Given the description of an element on the screen output the (x, y) to click on. 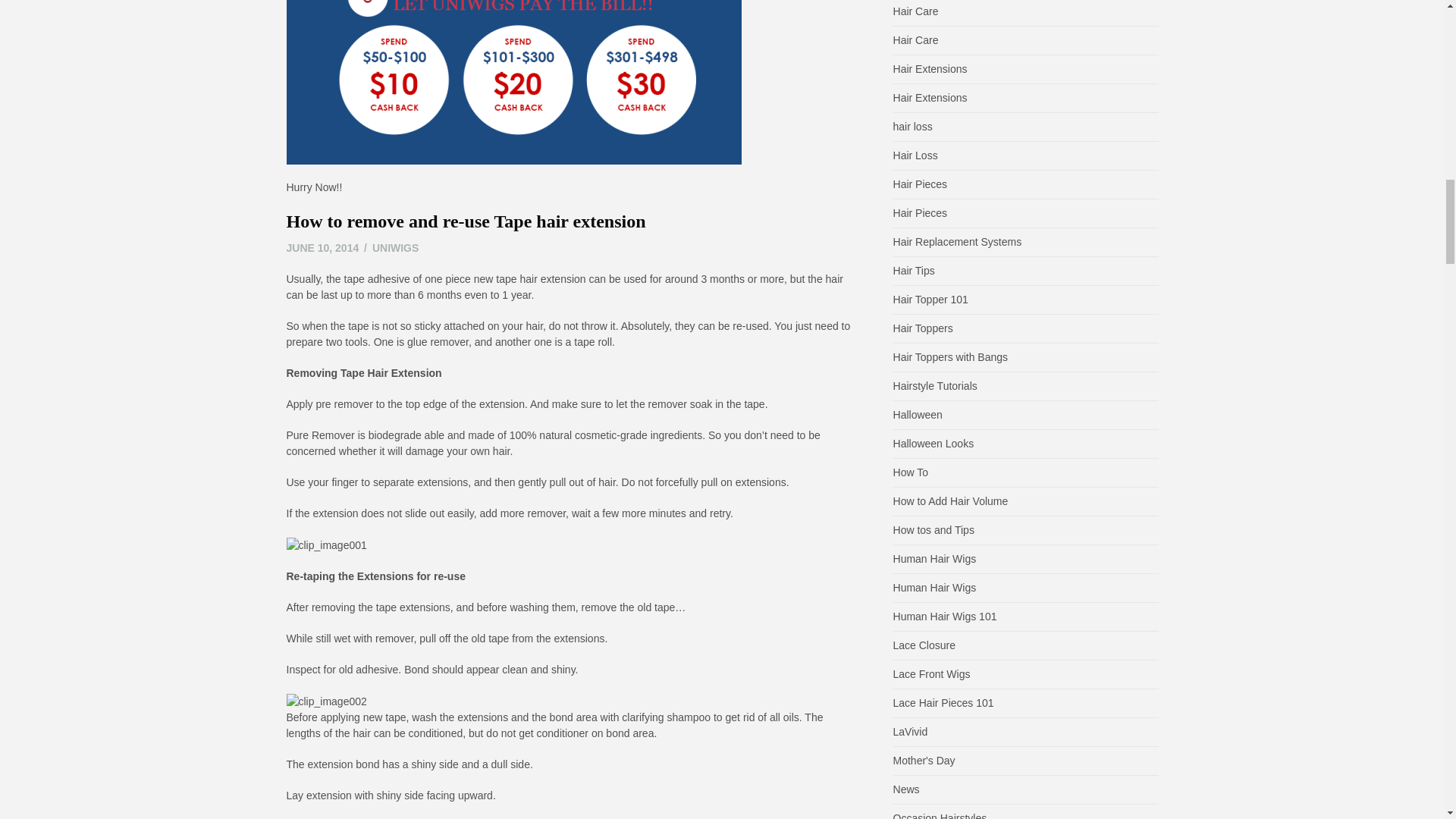
How to remove and re-use Tape hair extension (466, 220)
UNIWIGS (395, 247)
